Given the description of an element on the screen output the (x, y) to click on. 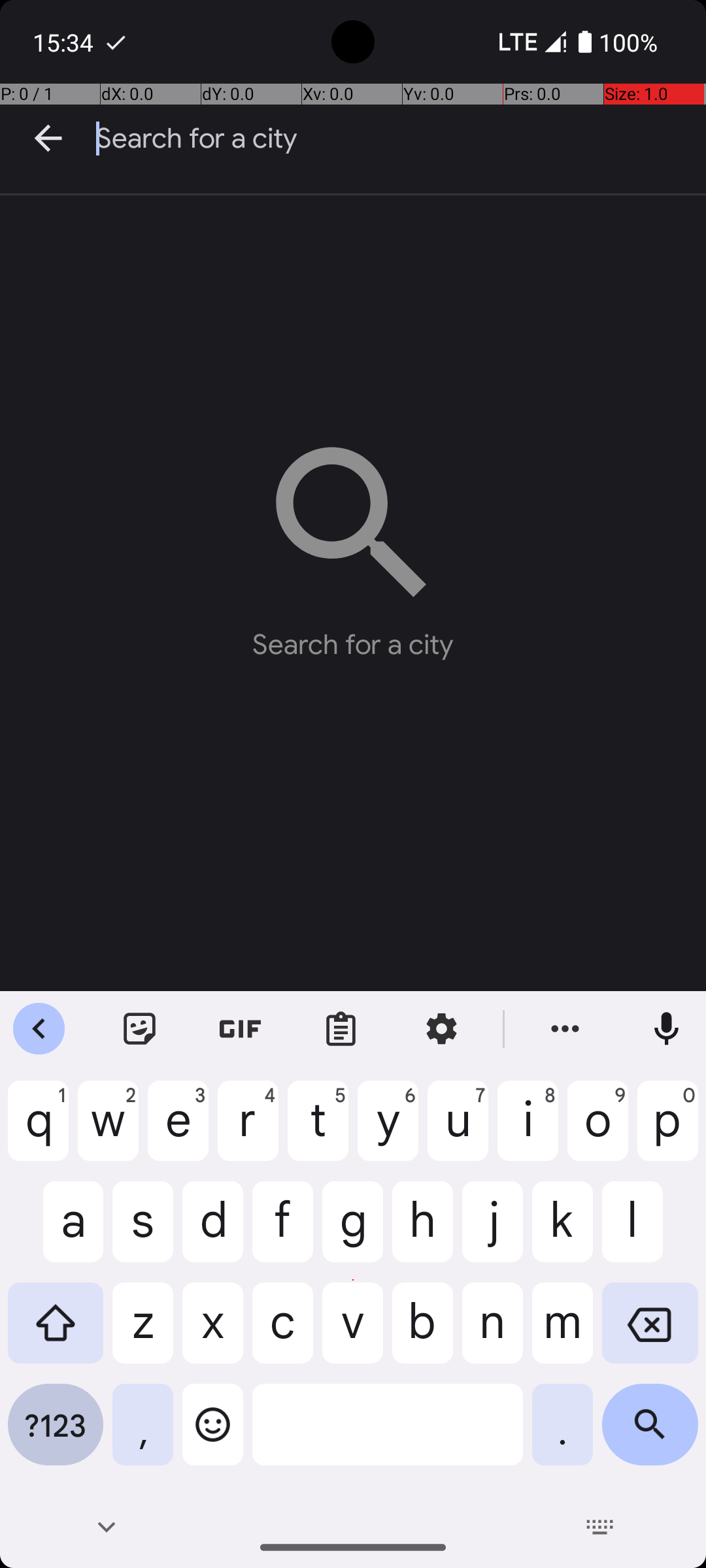
Search for a city Element type: android.widget.EditText (401, 138)
